Given the description of an element on the screen output the (x, y) to click on. 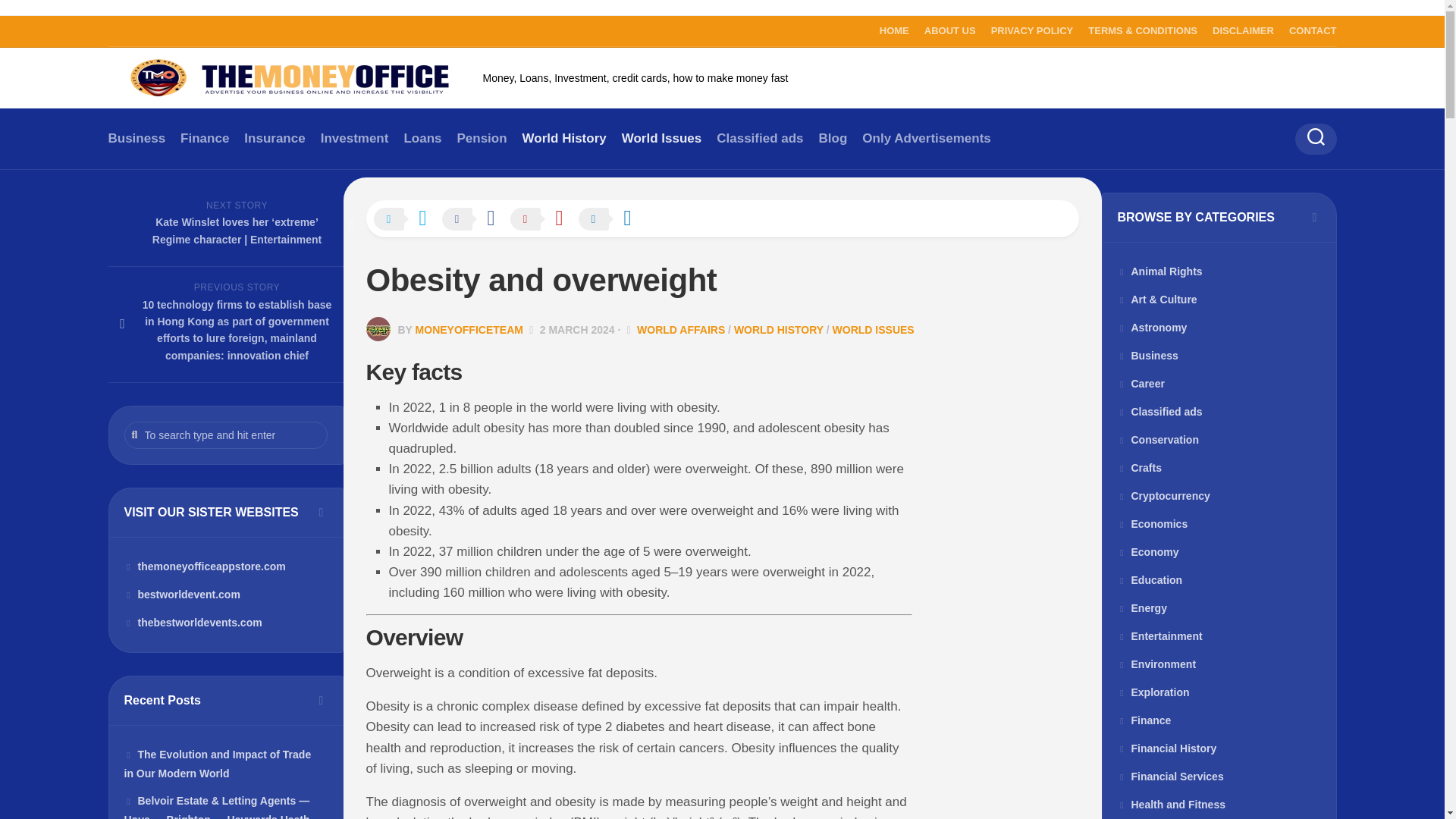
DISCLAIMER (1243, 30)
Insurance (274, 138)
Blog (832, 138)
Investment (354, 138)
Share on X (406, 219)
Loans (422, 138)
World History (564, 138)
To search type and hit enter (225, 434)
MONEYOFFICETEAM (468, 329)
Classified ads (759, 138)
To search type and hit enter (225, 434)
Only Advertisements (925, 138)
Share on LinkedIn (612, 219)
Posts by Moneyofficeteam (468, 329)
Business (136, 138)
